Given the description of an element on the screen output the (x, y) to click on. 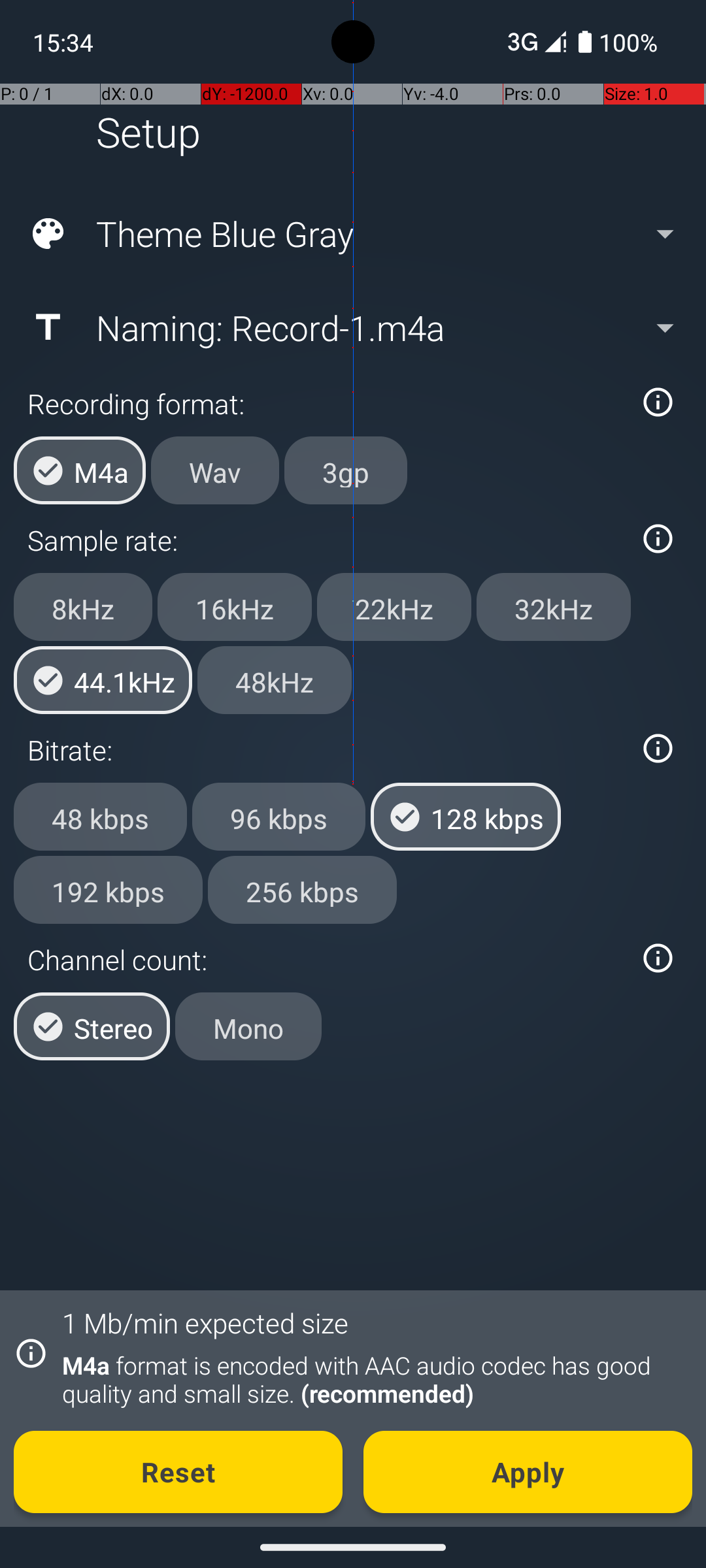
M4a format is encoded with AAC audio codec has good quality and small size. (recommended) Element type: android.widget.TextView (370, 1378)
